Given the description of an element on the screen output the (x, y) to click on. 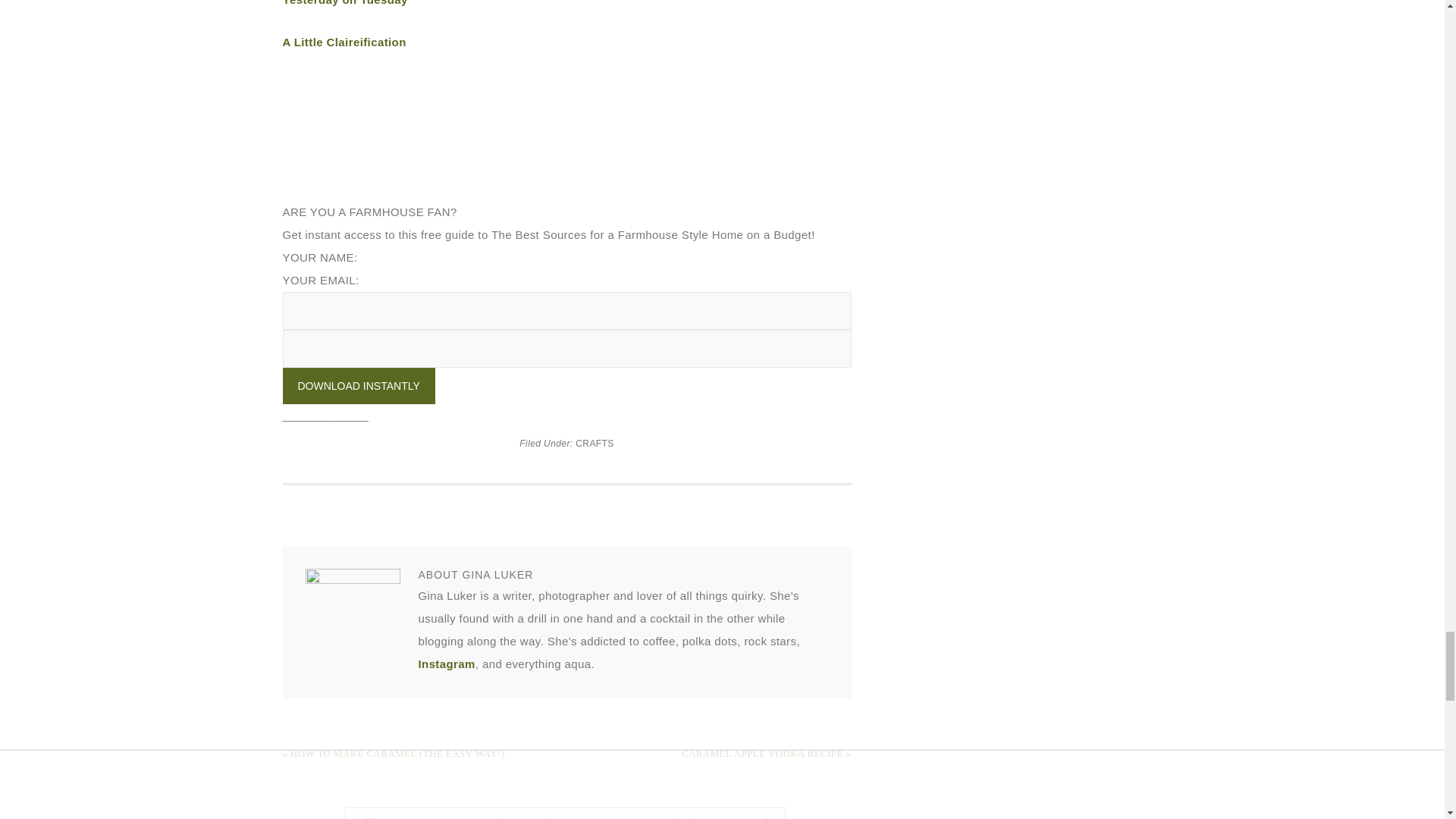
DOWNLOAD INSTANTLY (357, 385)
